Given the description of an element on the screen output the (x, y) to click on. 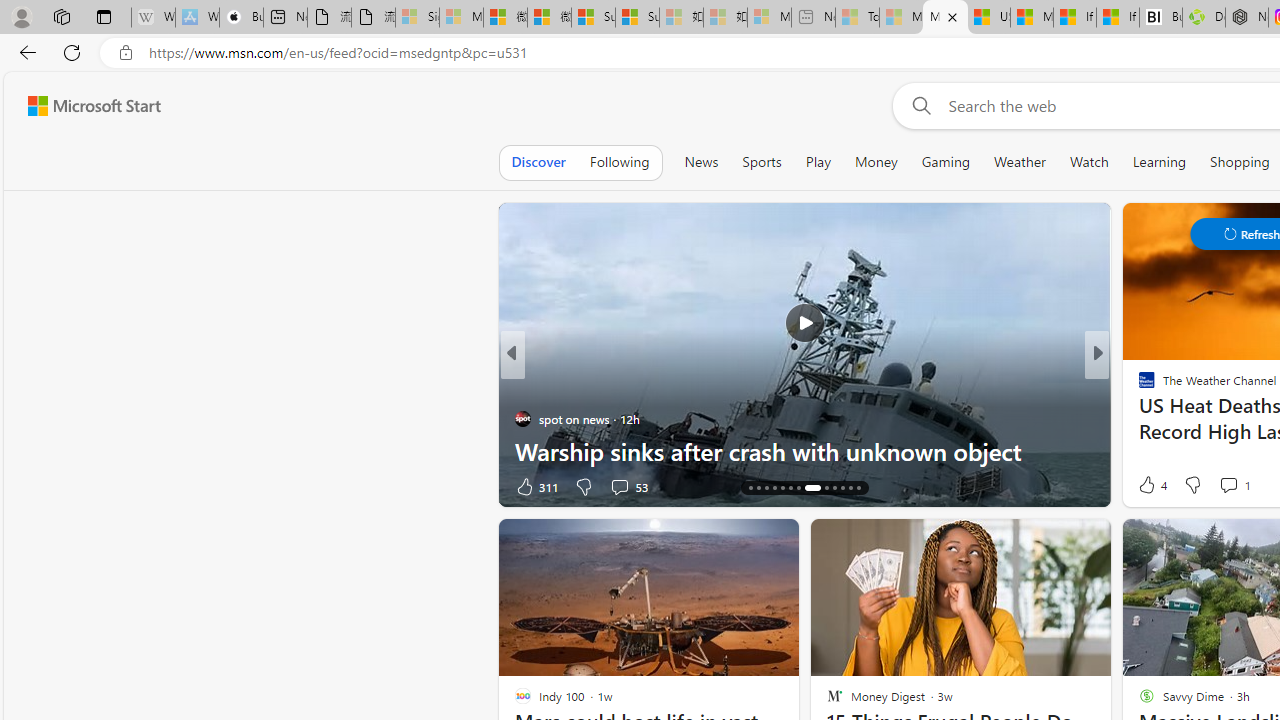
13 Like (1149, 486)
AutomationID: tab-15 (757, 487)
View comments 339 Comment (11, 485)
AutomationID: tab-25 (850, 487)
3 Like (1145, 486)
Marine life - MSN - Sleeping (900, 17)
View comments 53 Comment (619, 485)
Warship sinks after crash with unknown object (804, 450)
115 Like (1151, 486)
